Given the description of an element on the screen output the (x, y) to click on. 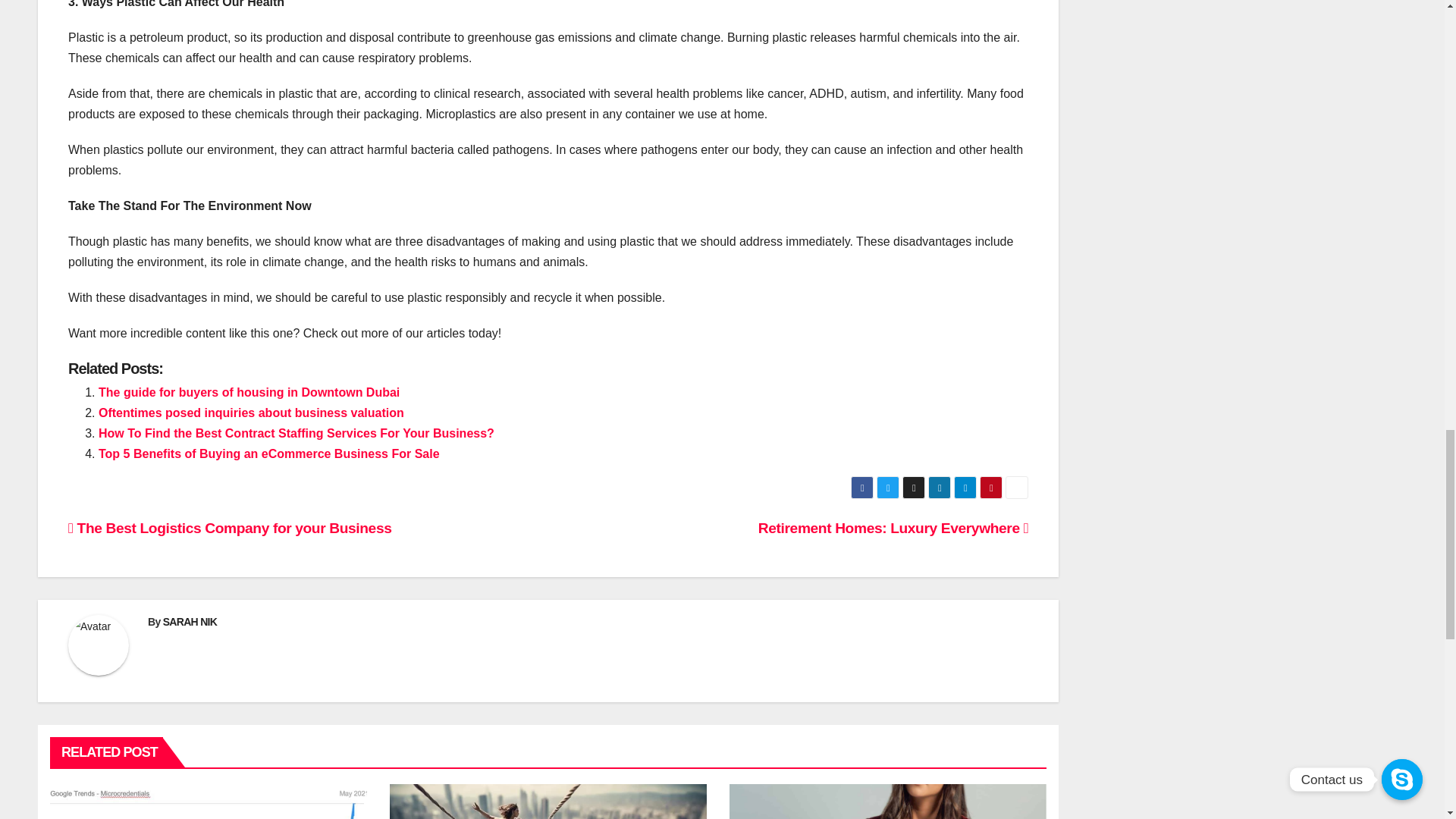
The guide for buyers of housing in Downtown Dubai (248, 391)
Top 5 Benefits of Buying an eCommerce Business For Sale (269, 453)
Oftentimes posed inquiries about business valuation (251, 412)
